Given the description of an element on the screen output the (x, y) to click on. 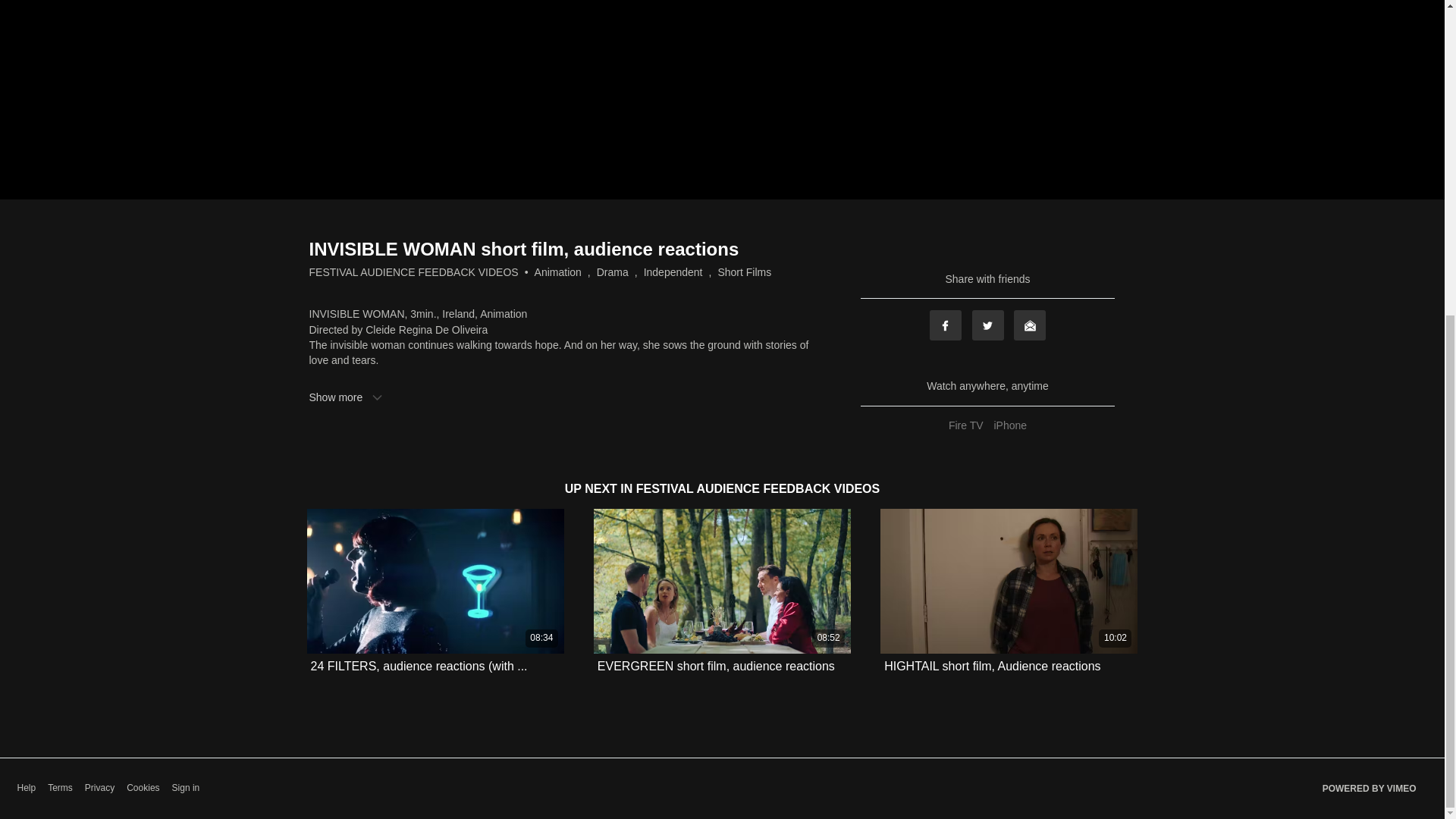
Drama (612, 272)
Short Films (744, 272)
Independent (673, 272)
Animation (557, 272)
FESTIVAL AUDIENCE FEEDBACK VIDEOS (413, 272)
HIGHTAIL short film, Audience reactions (991, 666)
EVERGREEN short film, audience reactions (715, 666)
Twitter (988, 325)
Email (1029, 325)
Facebook (945, 325)
